Given the description of an element on the screen output the (x, y) to click on. 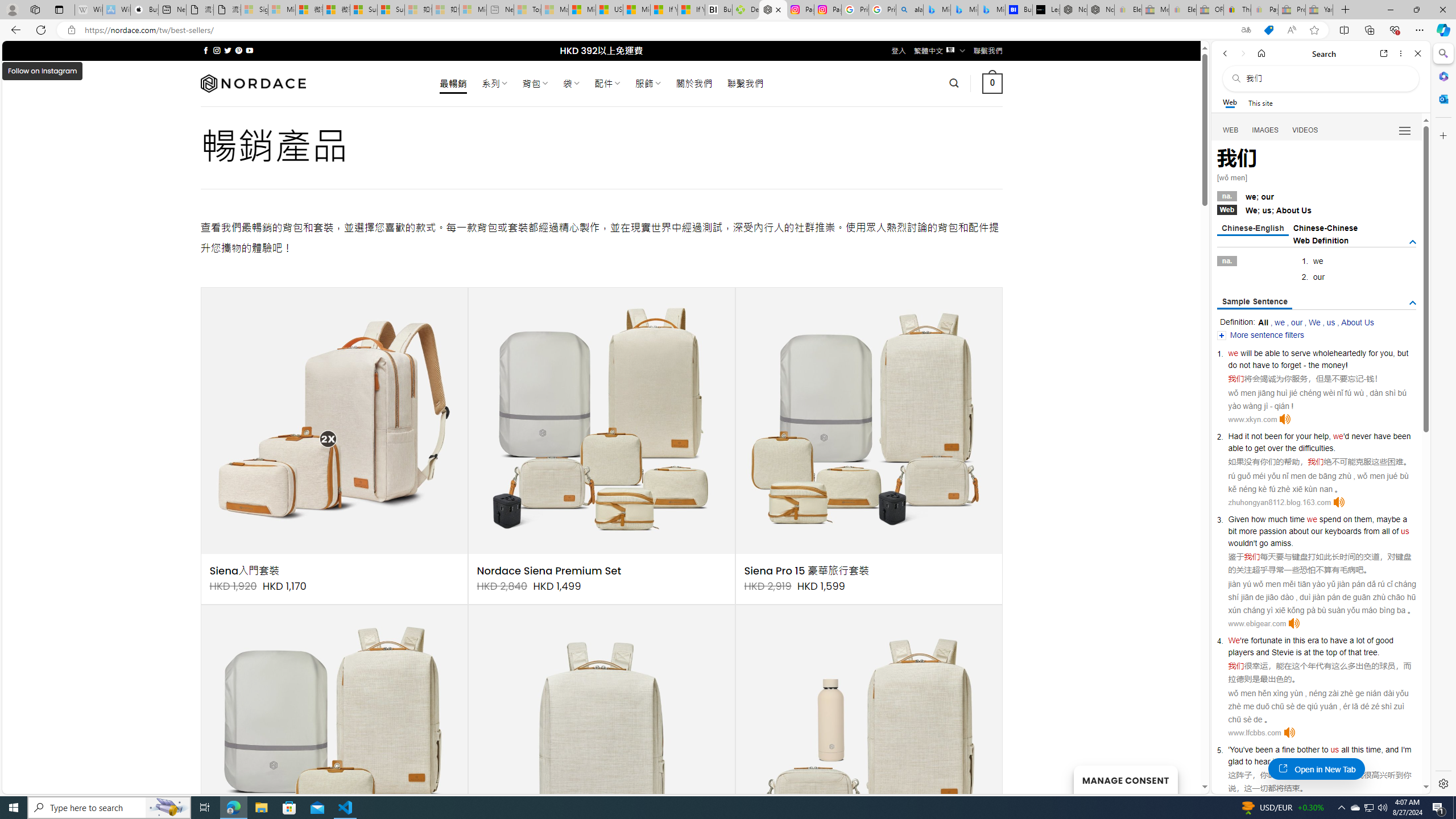
this (1357, 749)
to (1323, 640)
Click to listen (1289, 732)
we (1312, 519)
Chinese-English (1252, 228)
over (1275, 447)
www.lfcbbs.com (1254, 732)
